Given the description of an element on the screen output the (x, y) to click on. 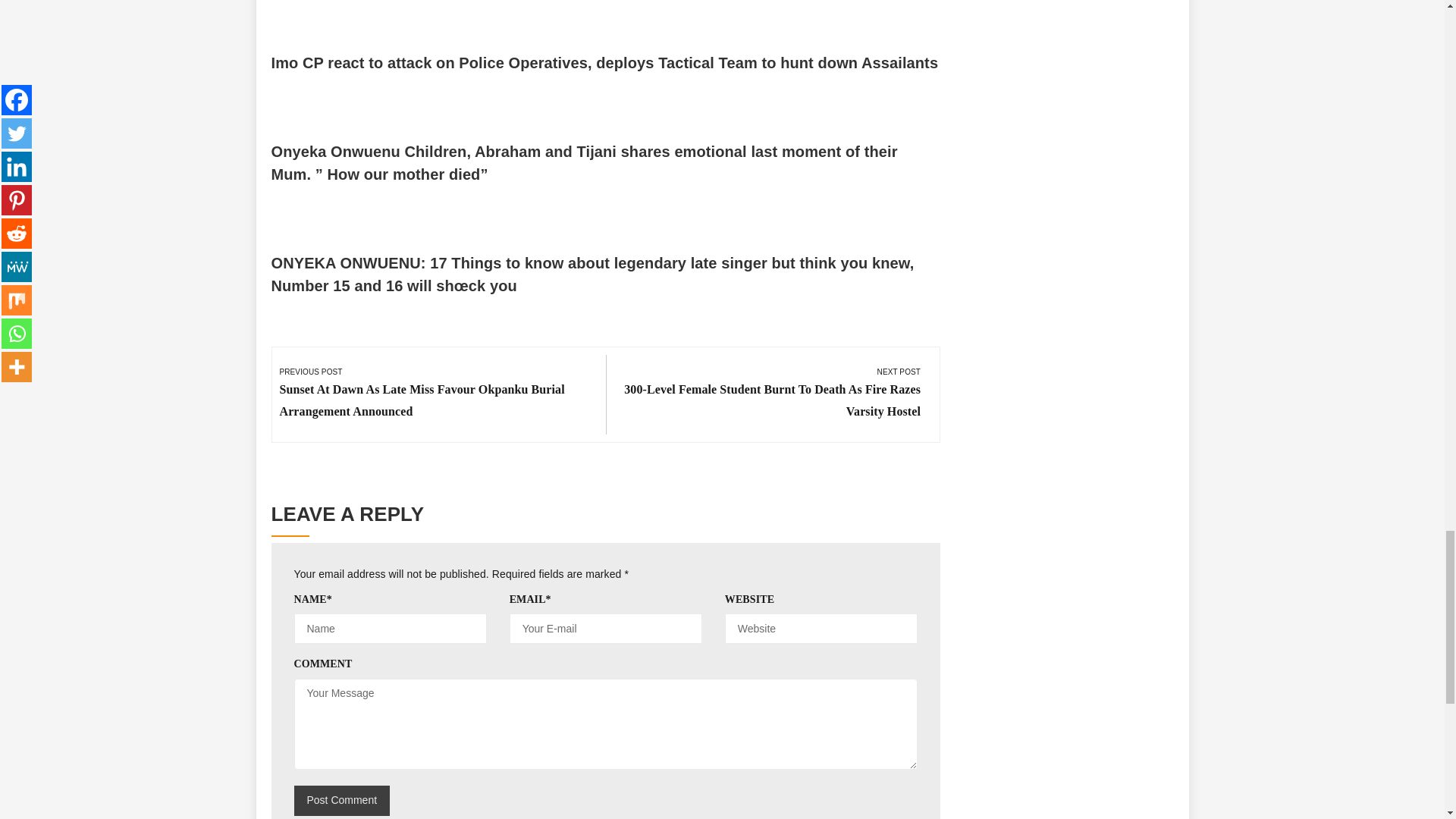
Post Comment (342, 800)
